Given the description of an element on the screen output the (x, y) to click on. 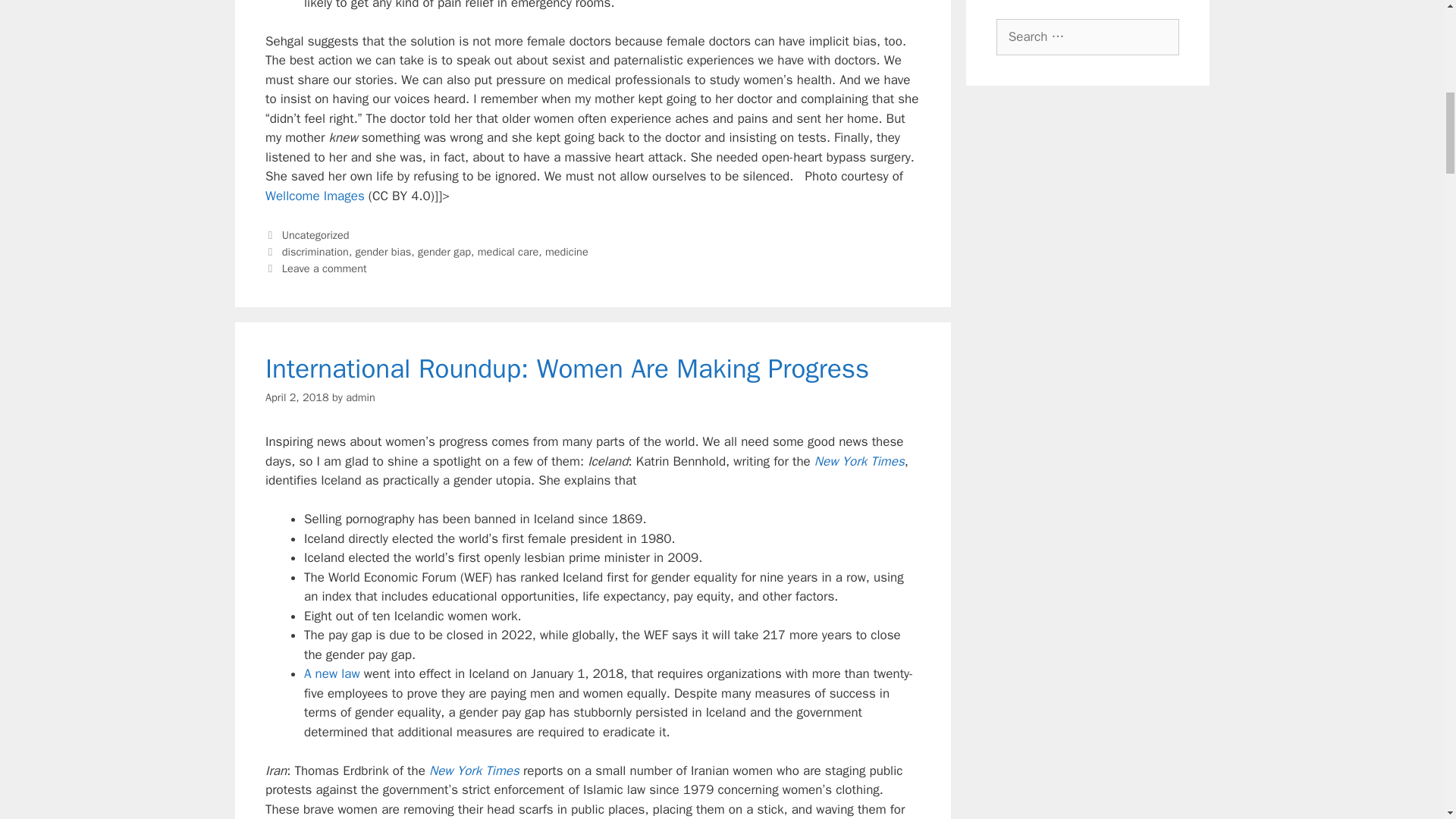
discrimination (315, 251)
gender gap (443, 251)
gender bias (383, 251)
medical care (507, 251)
medicine (566, 251)
Wellcome Images (314, 195)
Uncategorized (315, 234)
